Given the description of an element on the screen output the (x, y) to click on. 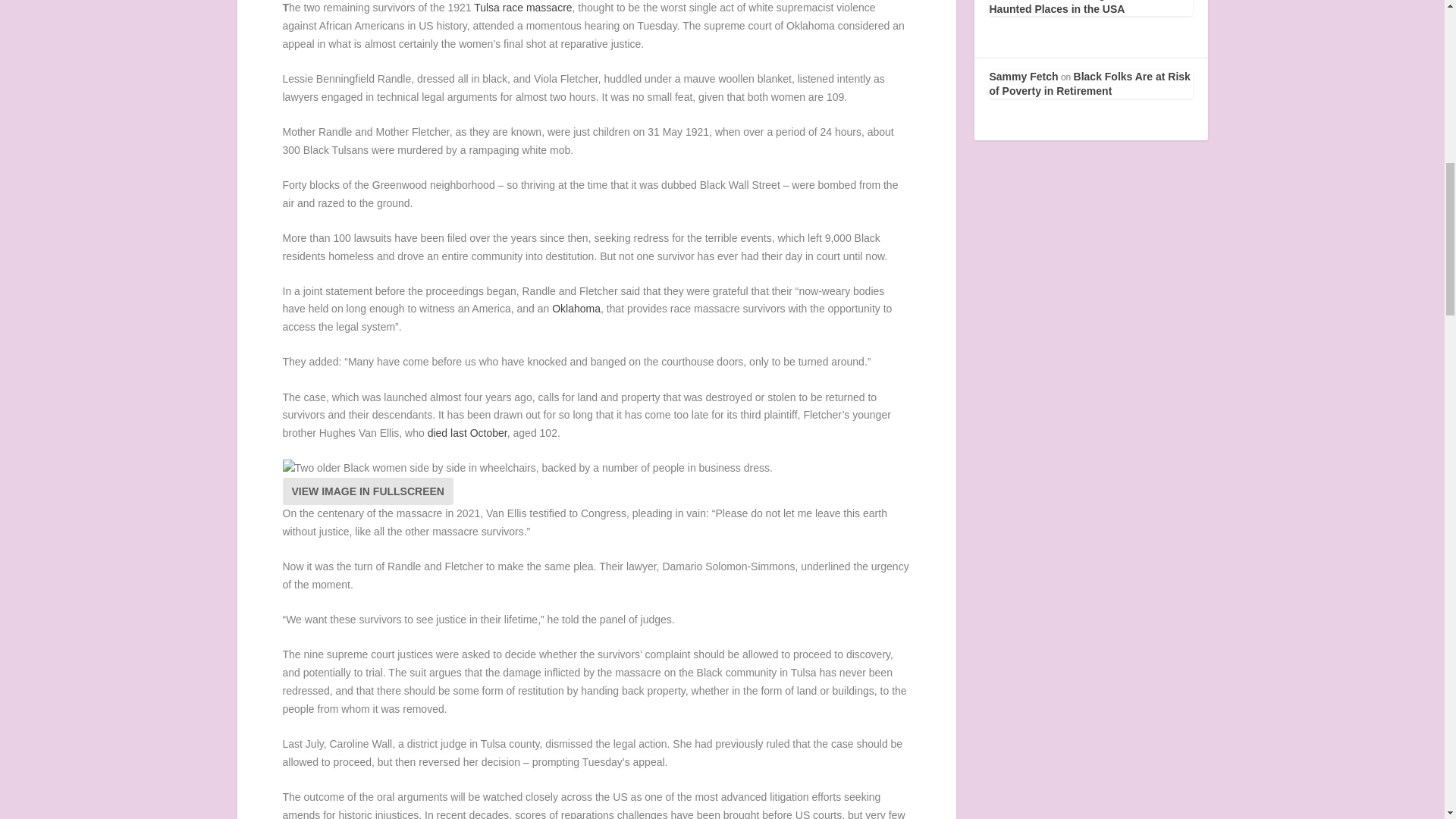
Oklahoma (575, 308)
died last October (467, 432)
VIEW IMAGE IN FULLSCREEN (367, 491)
Tulsa race massacre (523, 7)
VIEW IMAGE IN FULLSCREEN (367, 491)
